Given the description of an element on the screen output the (x, y) to click on. 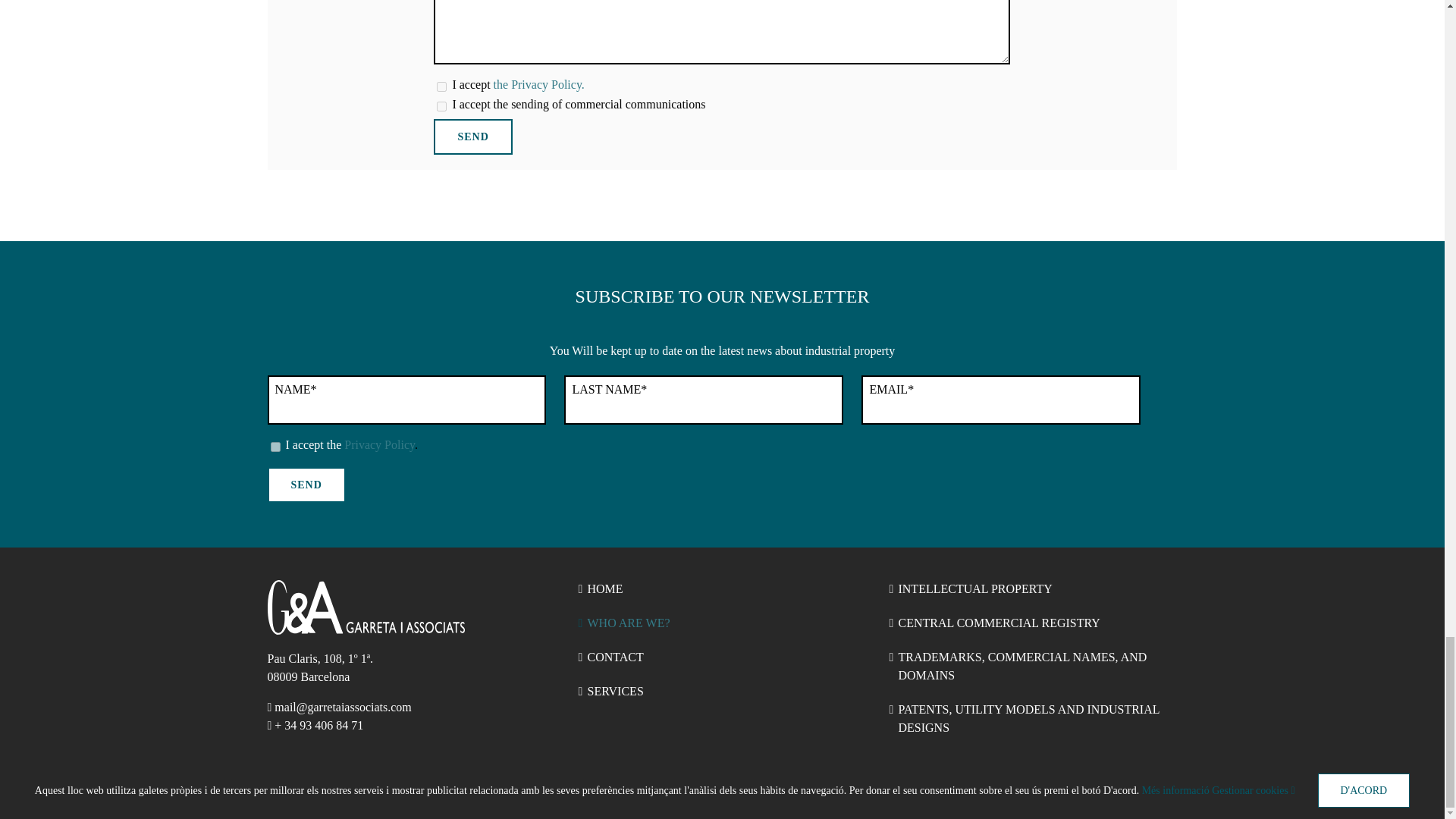
Send (472, 136)
I accept the sending of commercial communications (441, 106)
Send (305, 484)
